Given the description of an element on the screen output the (x, y) to click on. 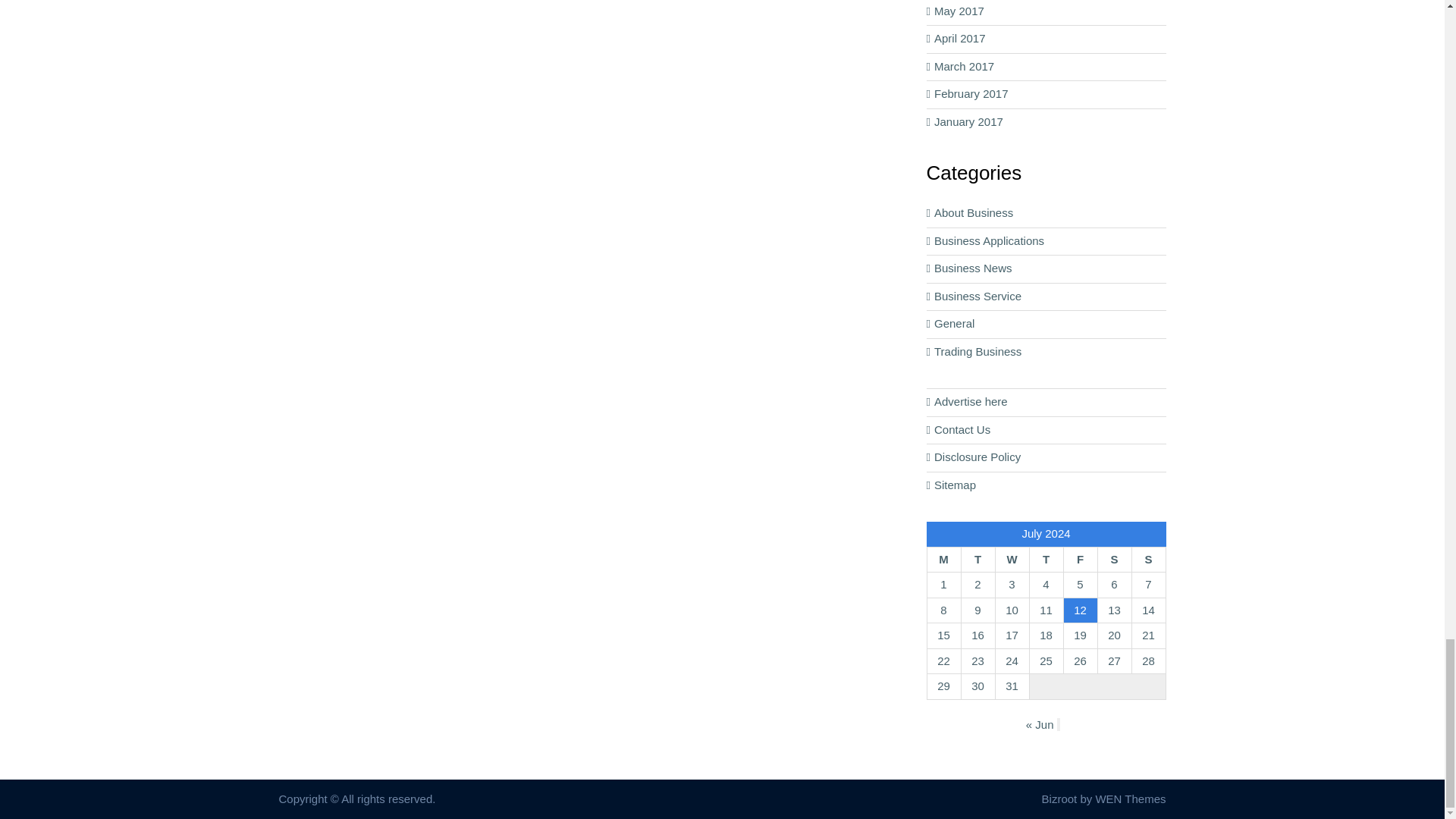
Saturday (1114, 559)
Wednesday (1011, 559)
Thursday (1045, 559)
Sunday (1148, 559)
Friday (1079, 559)
Monday (943, 559)
Tuesday (977, 559)
